Given the description of an element on the screen output the (x, y) to click on. 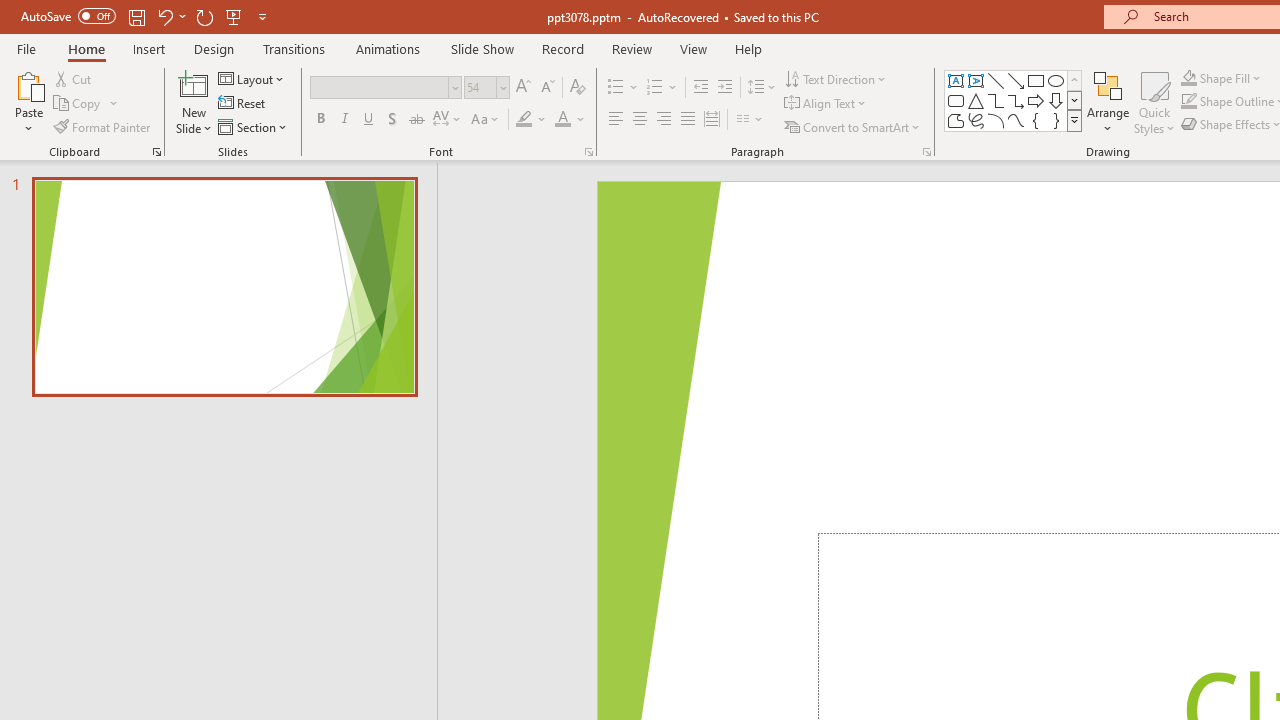
Shape Outline Green, Accent 1 (1188, 101)
